Given the description of an element on the screen output the (x, y) to click on. 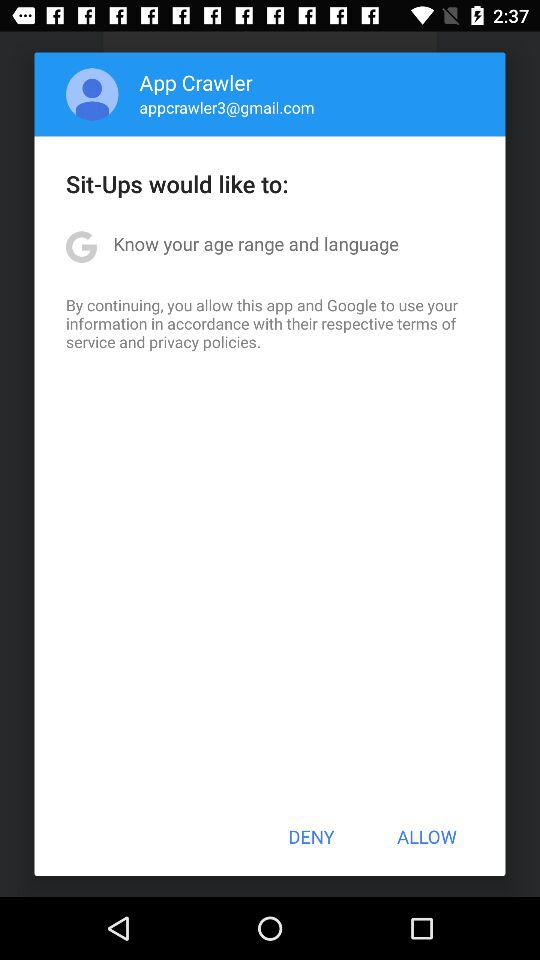
launch the button to the left of allow icon (311, 836)
